Given the description of an element on the screen output the (x, y) to click on. 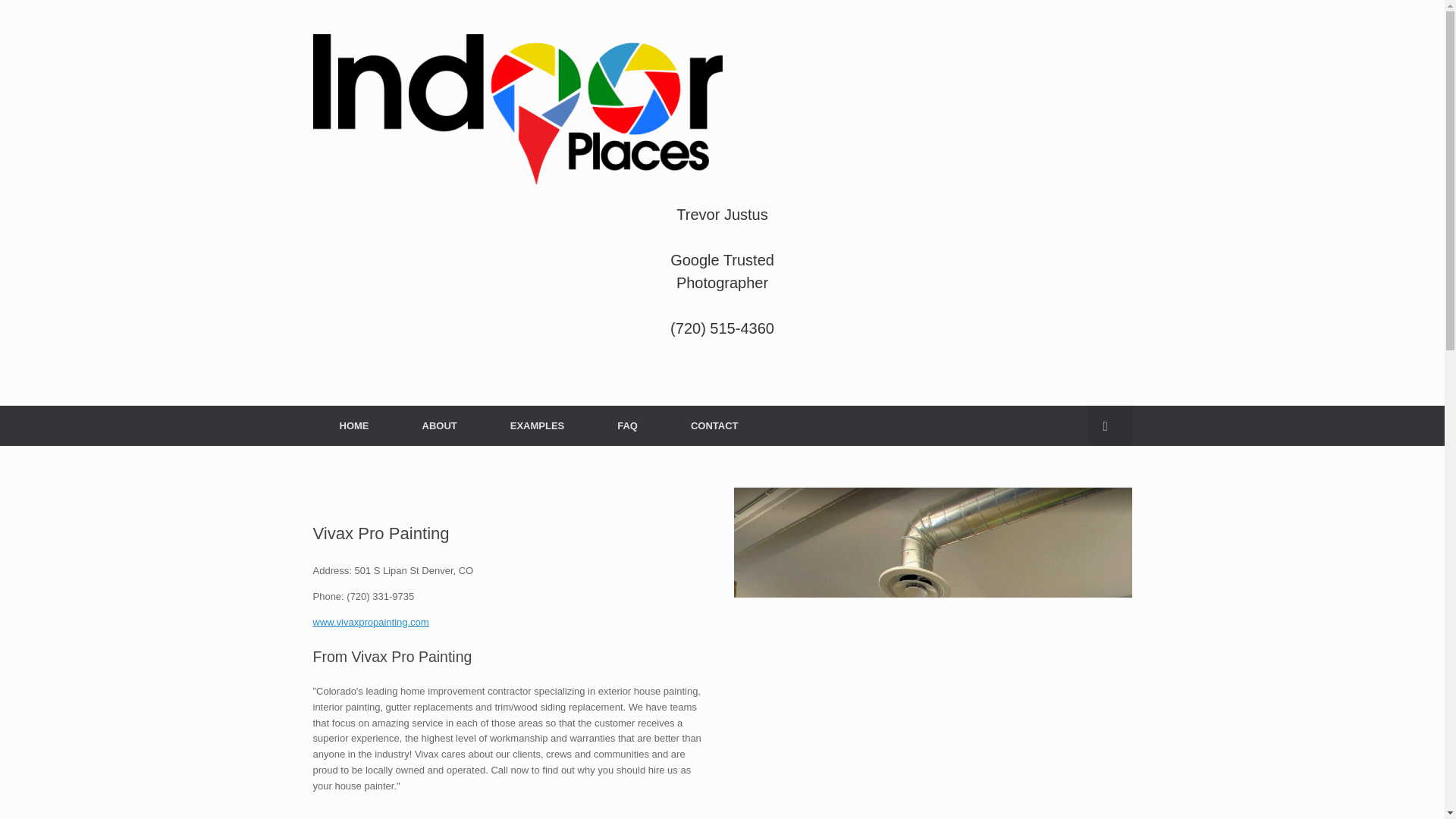
EXAMPLES (537, 425)
CONTACT (714, 425)
HOME (353, 425)
Vivax Pro Painting 501 S Lipan St Denver, CO (932, 653)
FAQ (627, 425)
ABOUT (439, 425)
Indoor Places (517, 109)
www.vivaxpropainting.com (370, 622)
